Given the description of an element on the screen output the (x, y) to click on. 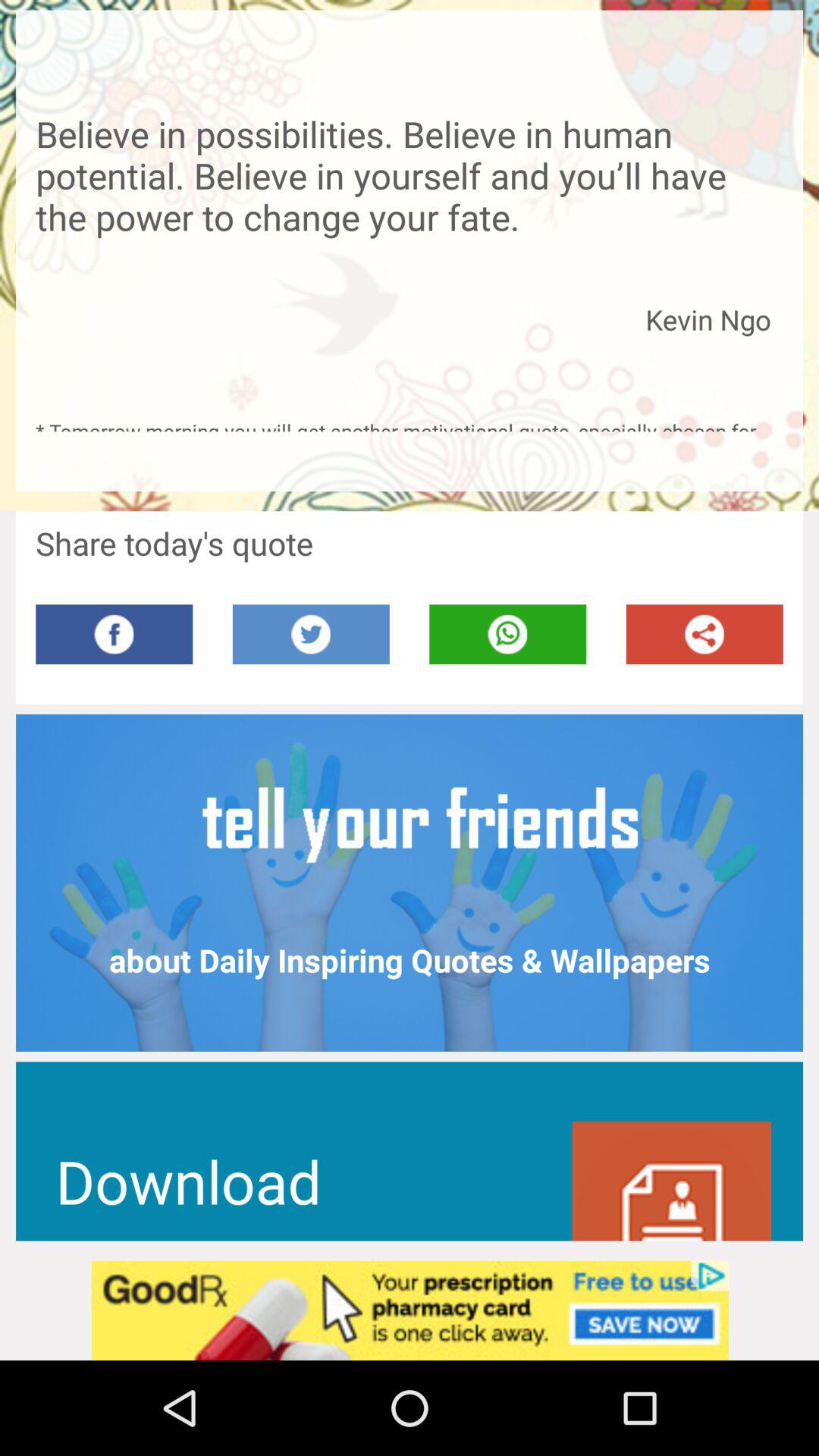
share on twitter (310, 634)
